Given the description of an element on the screen output the (x, y) to click on. 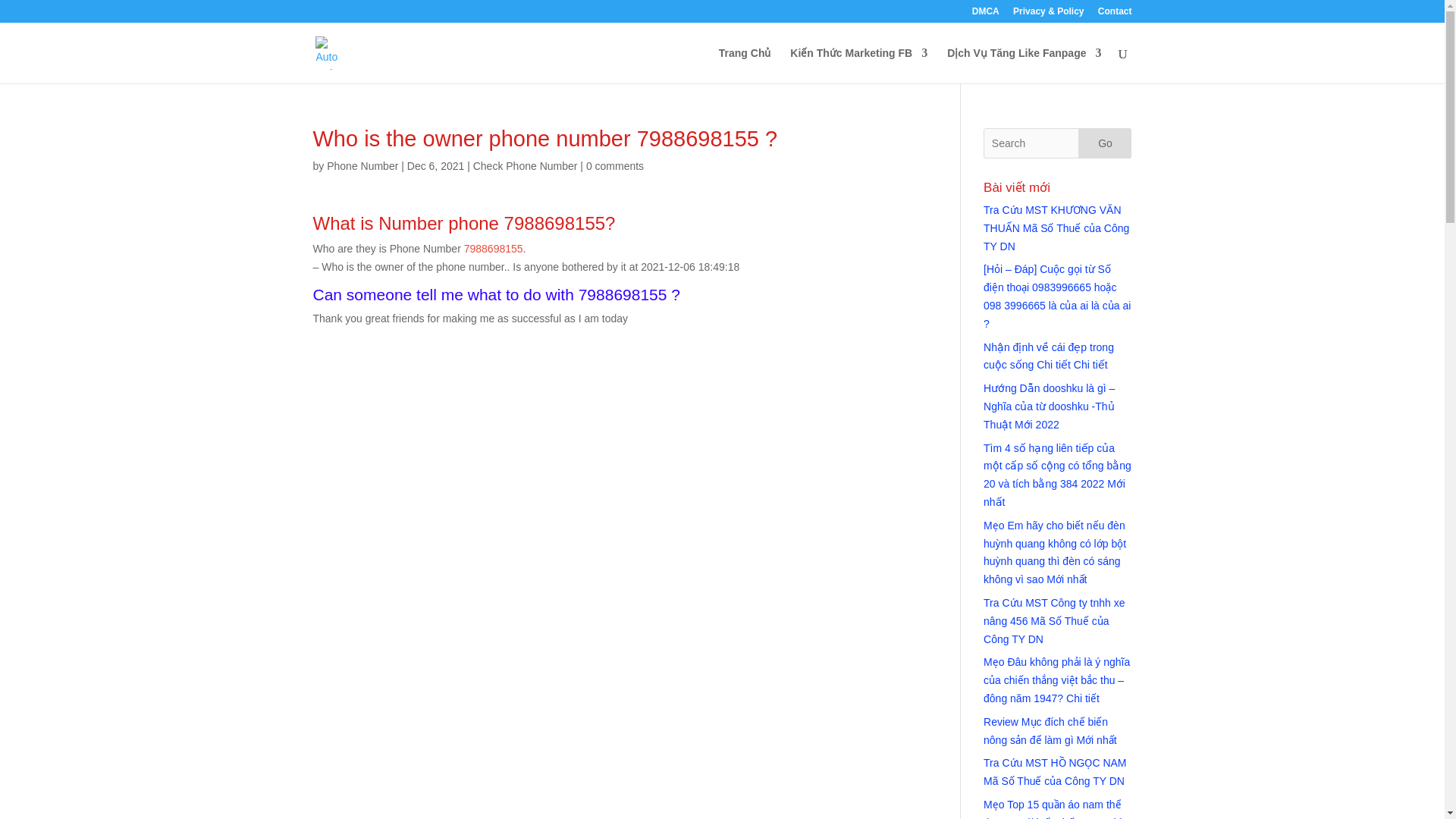
Contact (1114, 14)
Go (1104, 142)
Posts by Phone Number (361, 165)
DMCA (985, 14)
0 comments (614, 165)
Phone Number (361, 165)
Check Phone Number (525, 165)
